Given the description of an element on the screen output the (x, y) to click on. 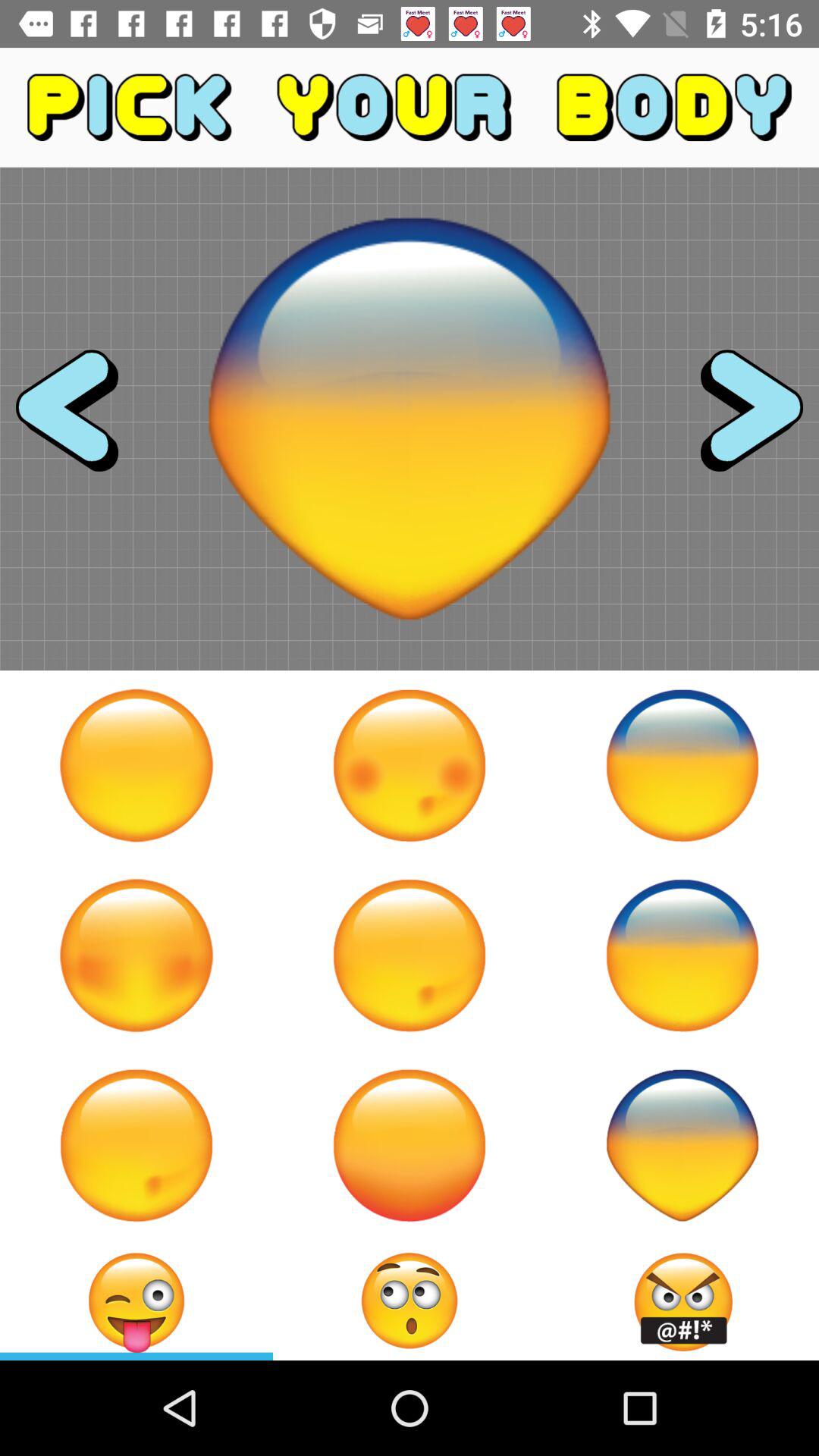
choose selection for body parts to create a character (737, 418)
